Given the description of an element on the screen output the (x, y) to click on. 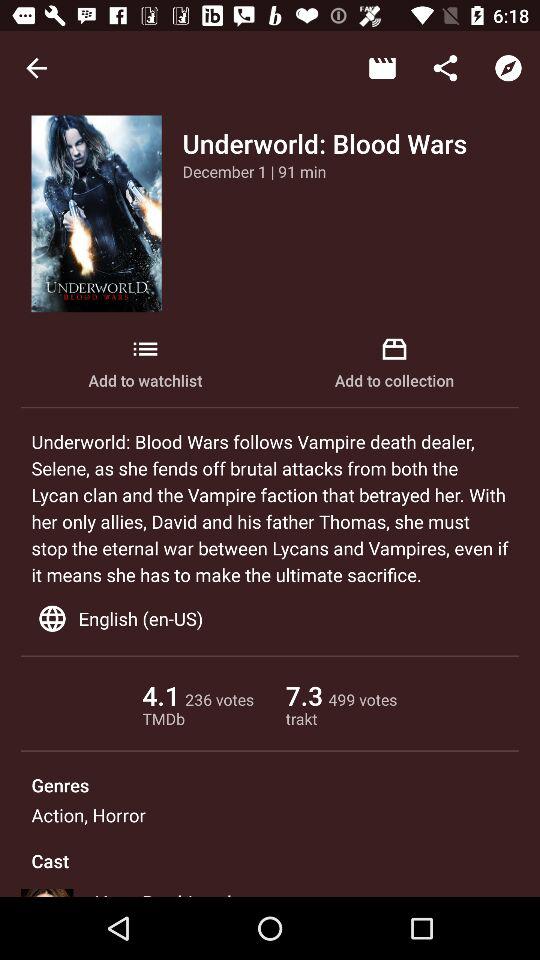
jump until the action, horror (88, 814)
